Given the description of an element on the screen output the (x, y) to click on. 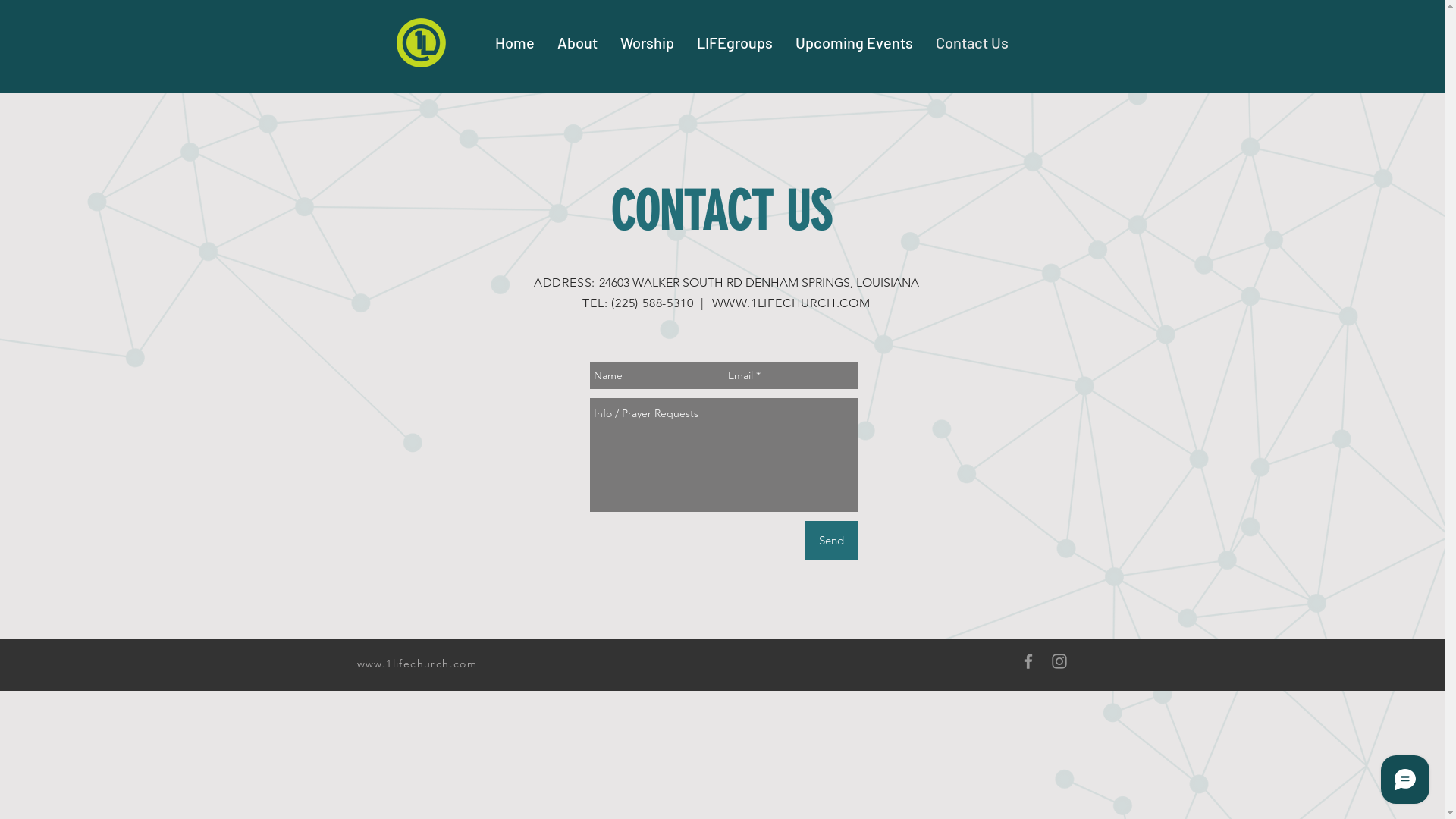
www.1lifechurch.com Element type: text (416, 663)
LIFEgroups Element type: text (734, 42)
Home Element type: text (514, 42)
About Element type: text (577, 42)
Worship Element type: text (646, 42)
Send Element type: text (830, 539)
WWW.1LIFECHURCH.COM Element type: text (790, 302)
Upcoming Events Element type: text (854, 42)
Contact Us Element type: text (971, 42)
